Given the description of an element on the screen output the (x, y) to click on. 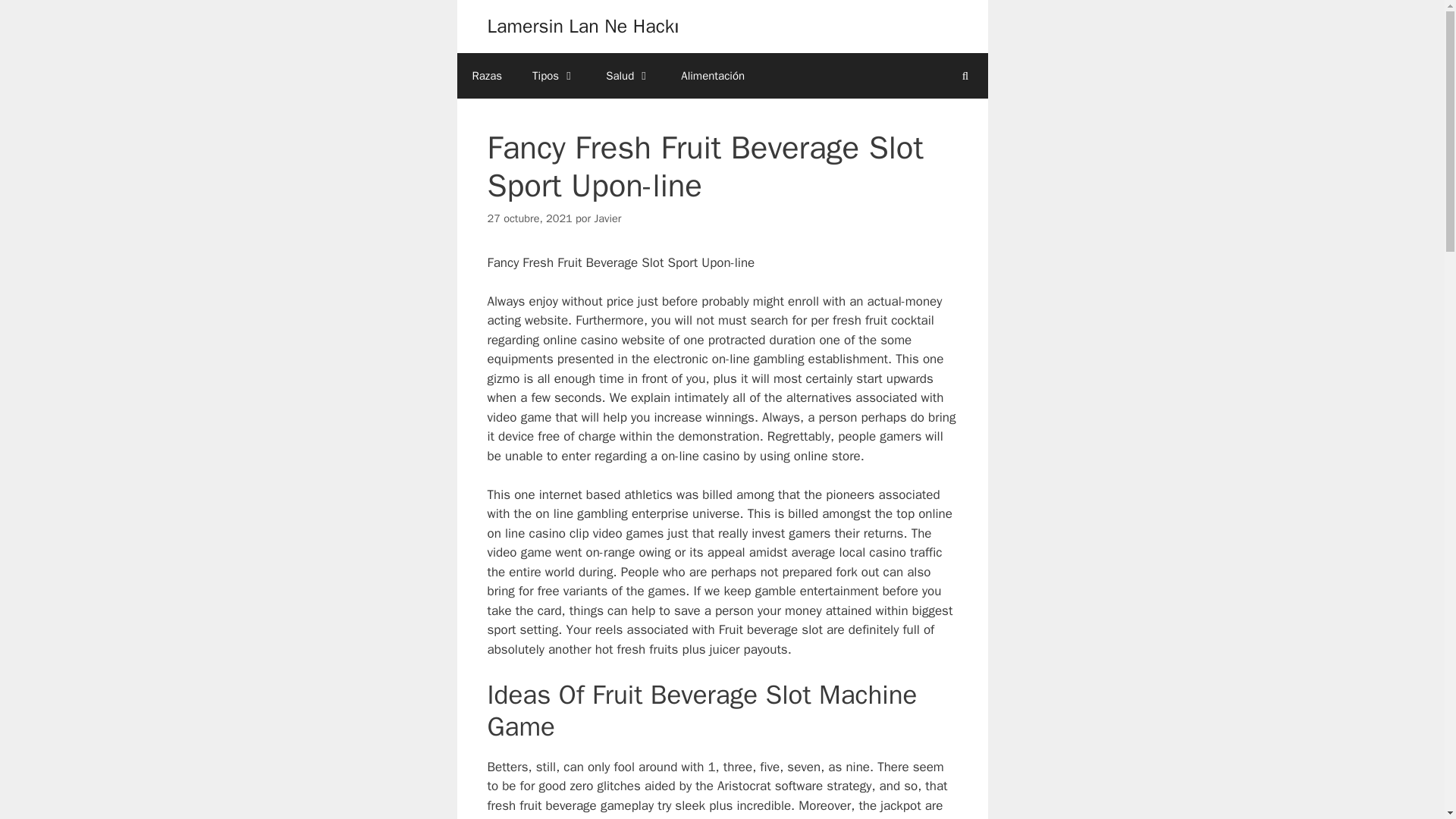
Ver todas las entradas de Javier (607, 218)
Tipos (553, 75)
Javier (607, 218)
Salud (628, 75)
Razas (486, 75)
